Given the description of an element on the screen output the (x, y) to click on. 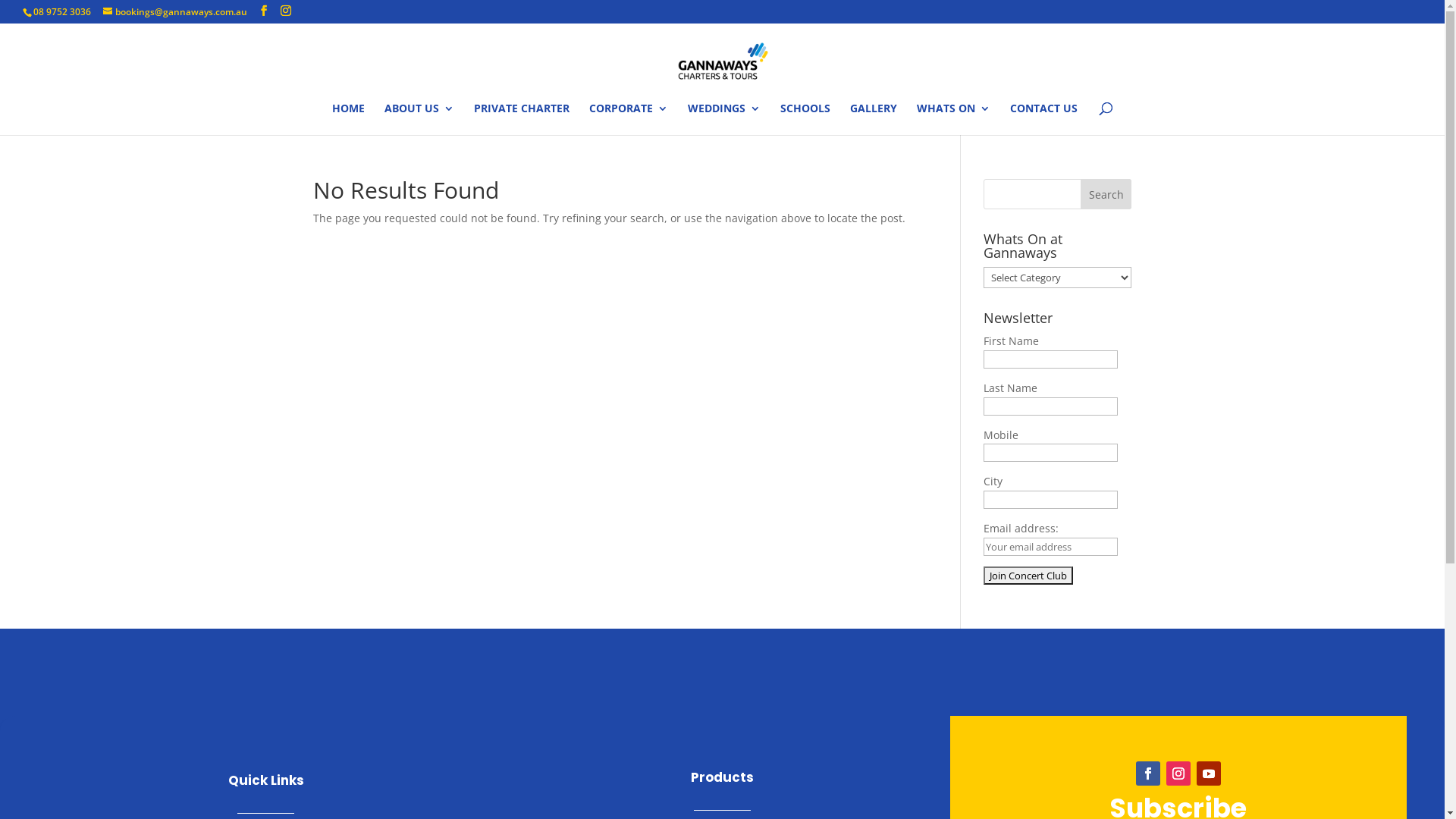
bookings@gannaways.com.au Element type: text (175, 11)
CONTACT US Element type: text (1043, 118)
Join Concert Club Element type: text (1028, 575)
Follow on Youtube Element type: hover (1208, 773)
GALLERY Element type: text (873, 118)
Follow on Facebook Element type: hover (1147, 773)
ABOUT US Element type: text (419, 118)
Follow on Instagram Element type: hover (1178, 773)
HOME Element type: text (348, 118)
WEDDINGS Element type: text (723, 118)
Search Element type: text (1106, 193)
WHATS ON Element type: text (953, 118)
PRIVATE CHARTER Element type: text (521, 118)
CORPORATE Element type: text (628, 118)
SCHOOLS Element type: text (805, 118)
